Given the description of an element on the screen output the (x, y) to click on. 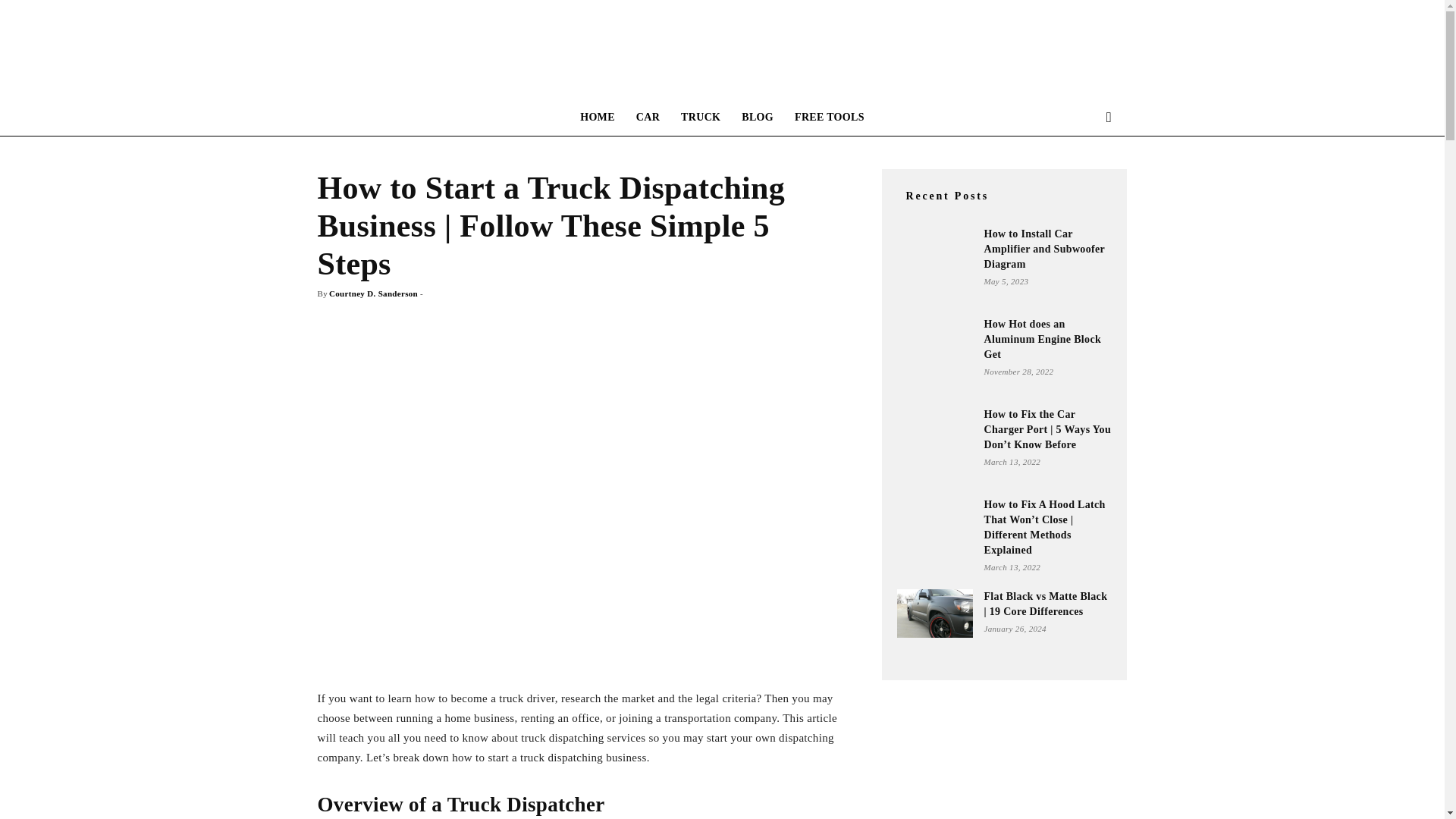
BLOG (757, 117)
Courtney D. Sanderson (373, 293)
FREE TOOLS (829, 117)
Search (1085, 178)
HOME (597, 117)
TRUCK (699, 117)
CAR (647, 117)
